Given the description of an element on the screen output the (x, y) to click on. 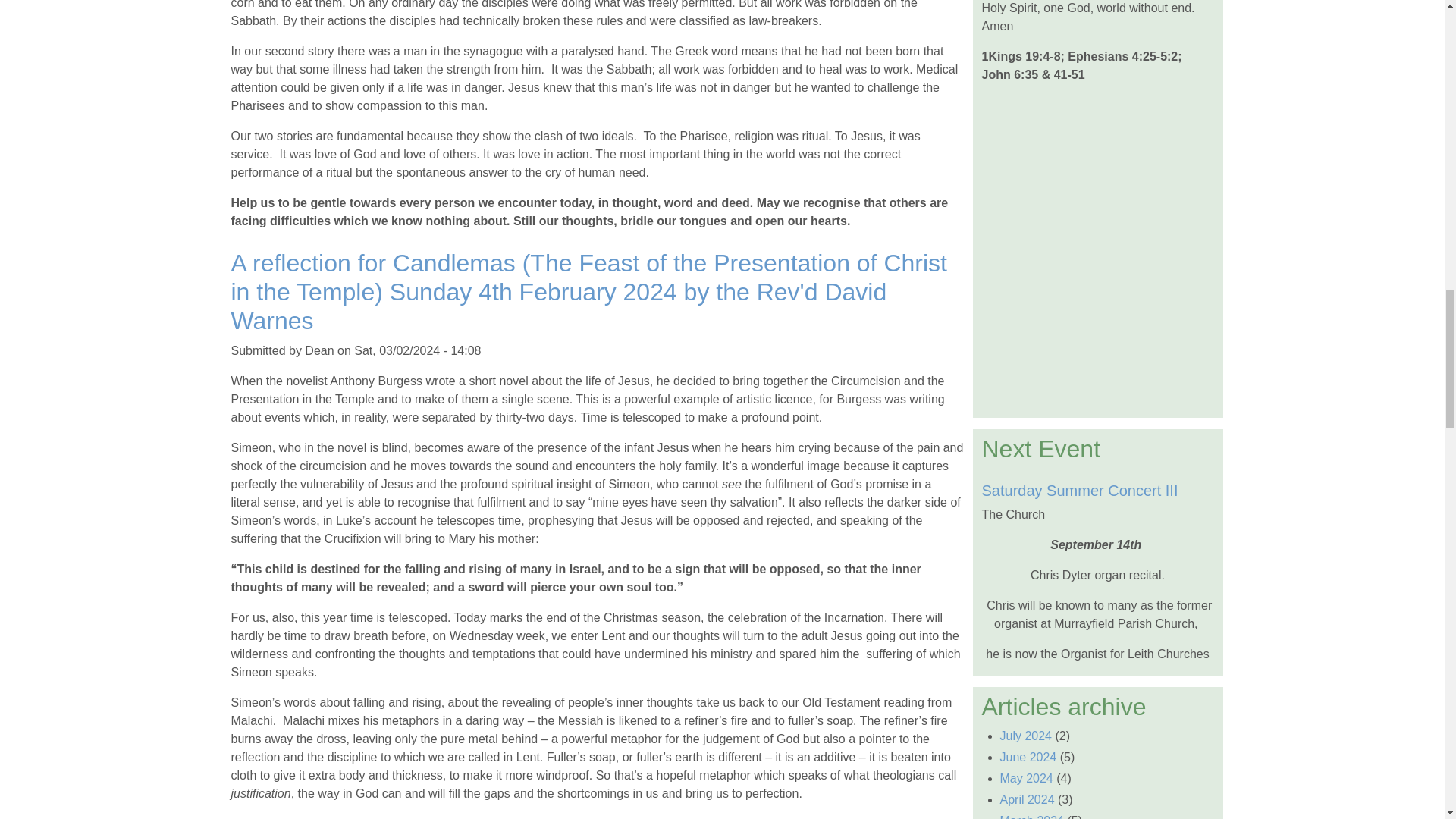
Saturday, February 3, 2024 - 14:08 (416, 350)
